Given the description of an element on the screen output the (x, y) to click on. 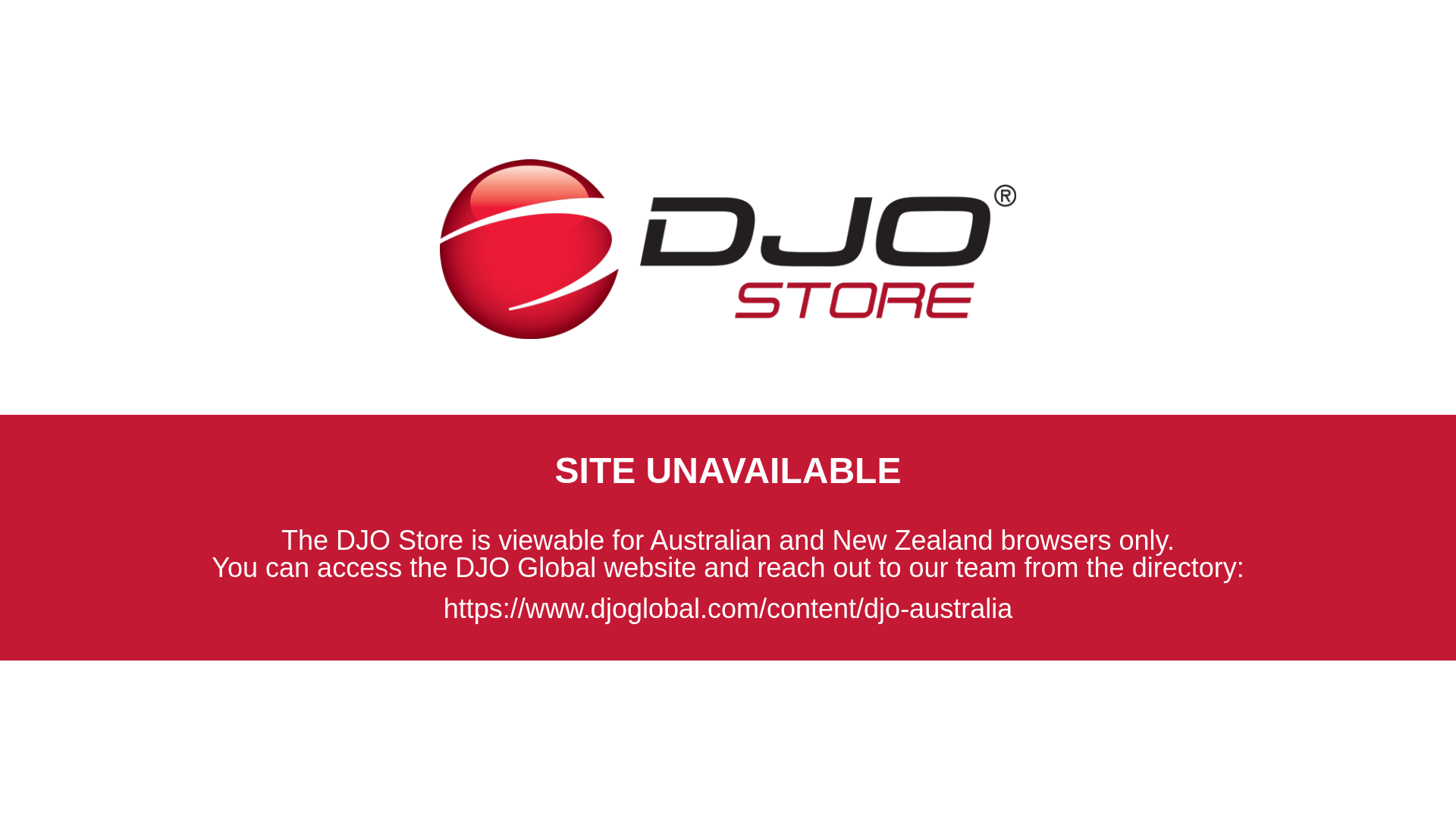
https://www.djoglobal.com/content/djo-australia Element type: text (727, 608)
